Given the description of an element on the screen output the (x, y) to click on. 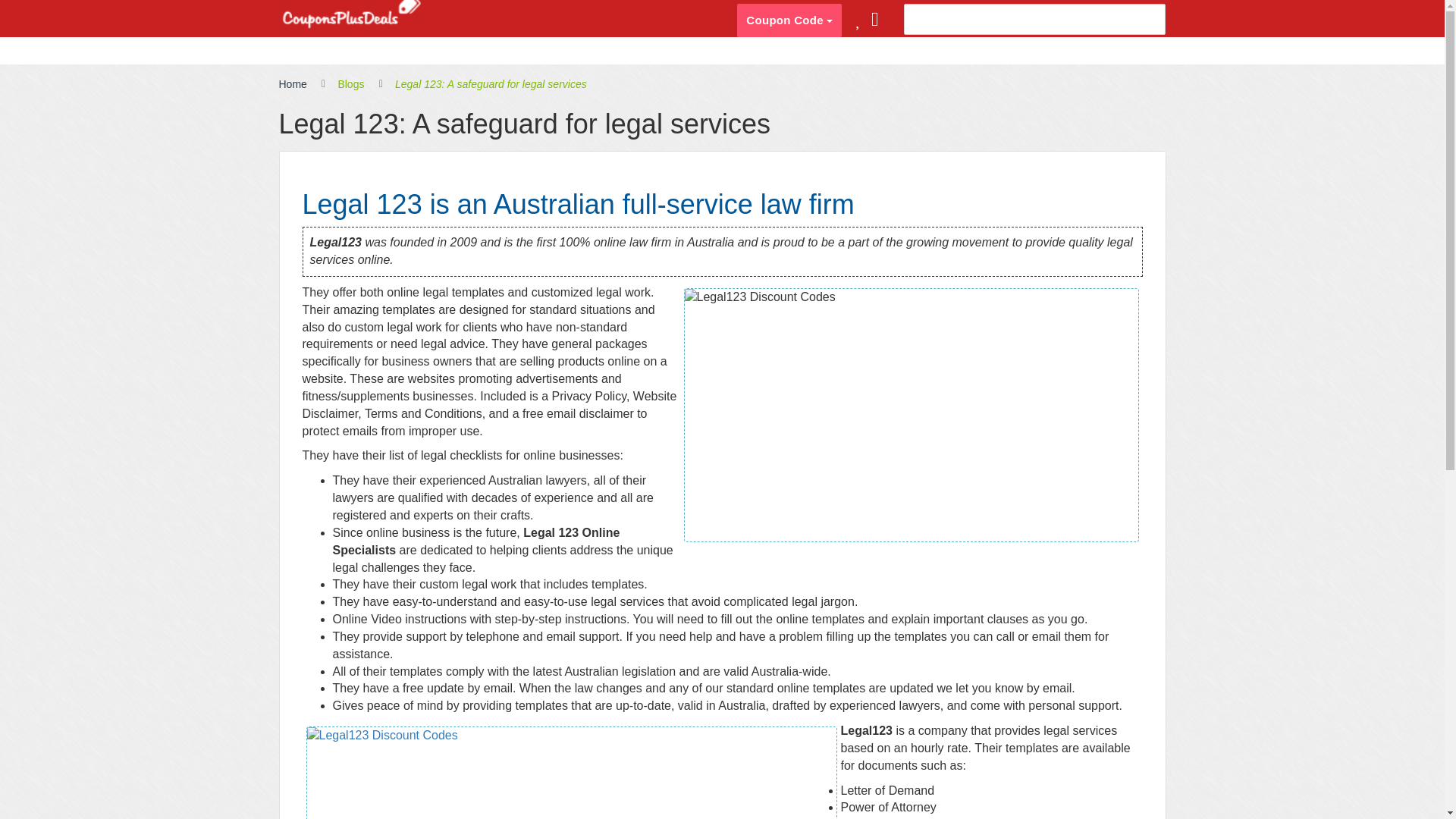
Coupon Code (788, 20)
Home (293, 84)
Blogs (350, 84)
Coupons Plus Deals (351, 15)
